Given the description of an element on the screen output the (x, y) to click on. 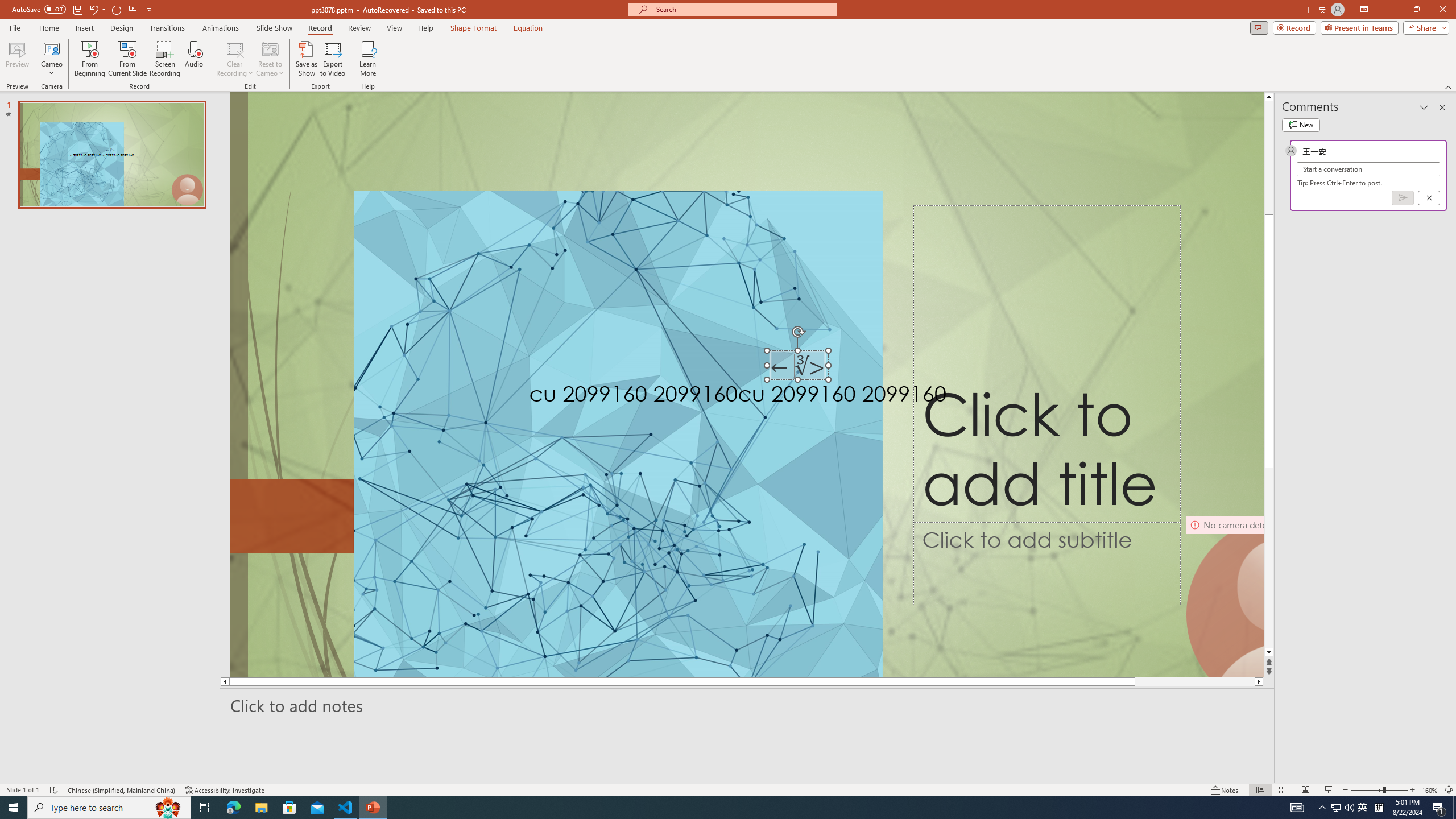
An abstract genetic concept (746, 383)
